Given the description of an element on the screen output the (x, y) to click on. 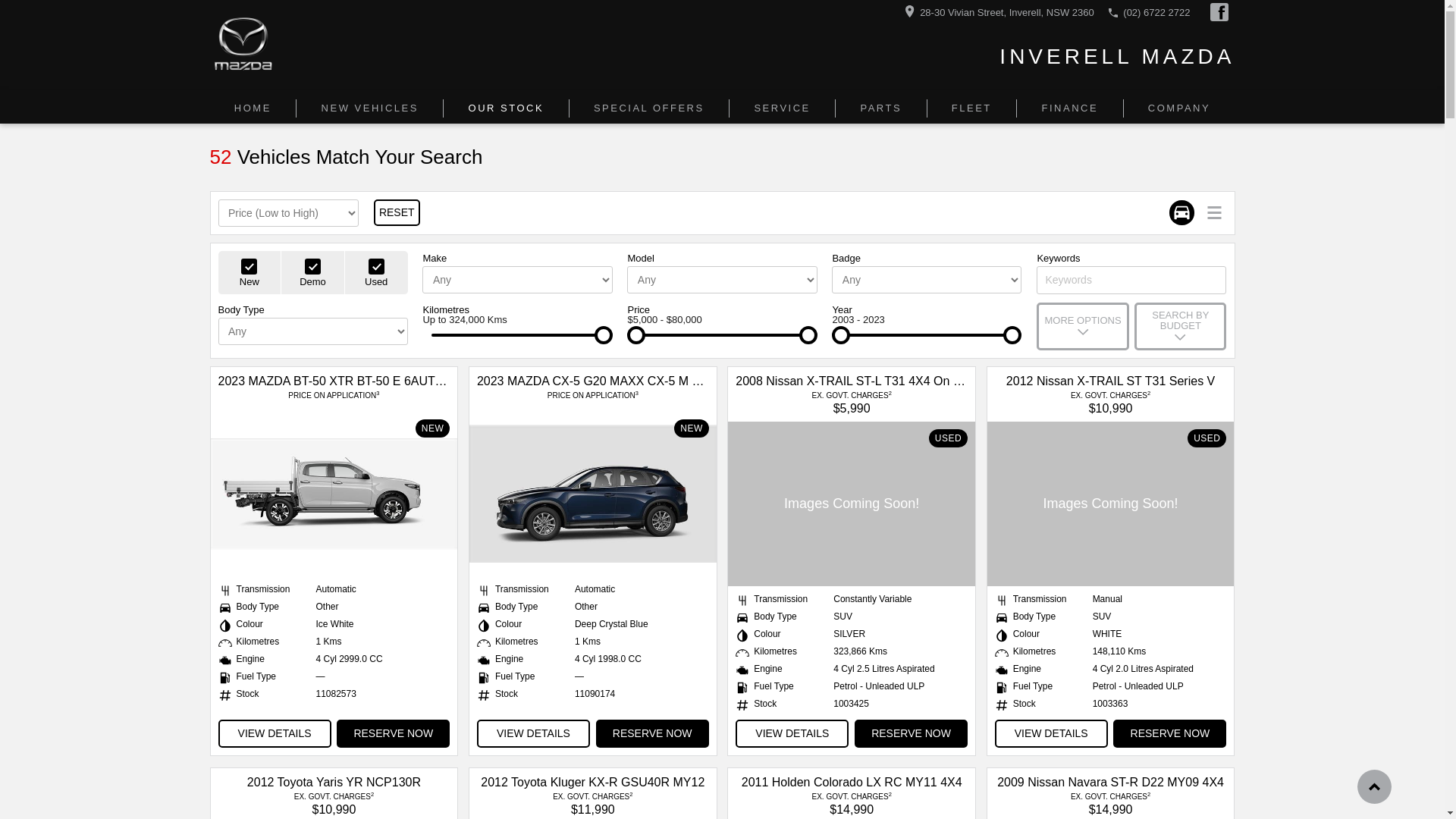
EX. GOVT. CHARGES2
$5,990 Element type: text (851, 401)
EX. GOVT. CHARGES2
$11,990 Element type: text (592, 802)
MORE OPTIONS Element type: text (1082, 326)
(02) 6722 2722 Element type: text (1156, 12)
FINANCE Element type: text (1069, 108)
SERVICE Element type: text (782, 108)
RESERVE NOW Element type: text (652, 733)
HOME Element type: text (252, 108)
EX. GOVT. CHARGES2
$14,990 Element type: text (1110, 802)
VIEW DETAILS Element type: text (1050, 733)
EX. GOVT. CHARGES2
$10,990 Element type: text (334, 802)
NEW Element type: text (592, 493)
COMPANY Element type: text (1179, 108)
VIEW DETAILS Element type: text (791, 733)
RESET Element type: text (396, 212)
NEW VEHICLES Element type: text (369, 108)
OUR STOCK Element type: text (505, 108)
EX. GOVT. CHARGES2
$14,990 Element type: text (851, 802)
28-30 Vivian Street, Inverell, NSW 2360 Element type: text (1006, 12)
NEW Element type: text (334, 493)
FLEET Element type: text (971, 108)
EX. GOVT. CHARGES2
$10,990 Element type: text (1110, 401)
SEARCH BY BUDGET Element type: text (1180, 326)
VIEW DETAILS Element type: text (274, 733)
RESERVE NOW Element type: text (910, 733)
RESERVE NOW Element type: text (392, 733)
USED Element type: text (851, 503)
VIEW DETAILS Element type: text (532, 733)
PRICE ON APPLICATION3 Element type: text (592, 396)
RESERVE NOW Element type: text (1169, 733)
PRICE ON APPLICATION3 Element type: text (334, 396)
USED Element type: text (1110, 503)
SPECIAL OFFERS Element type: text (649, 108)
PARTS Element type: text (880, 108)
